Given the description of an element on the screen output the (x, y) to click on. 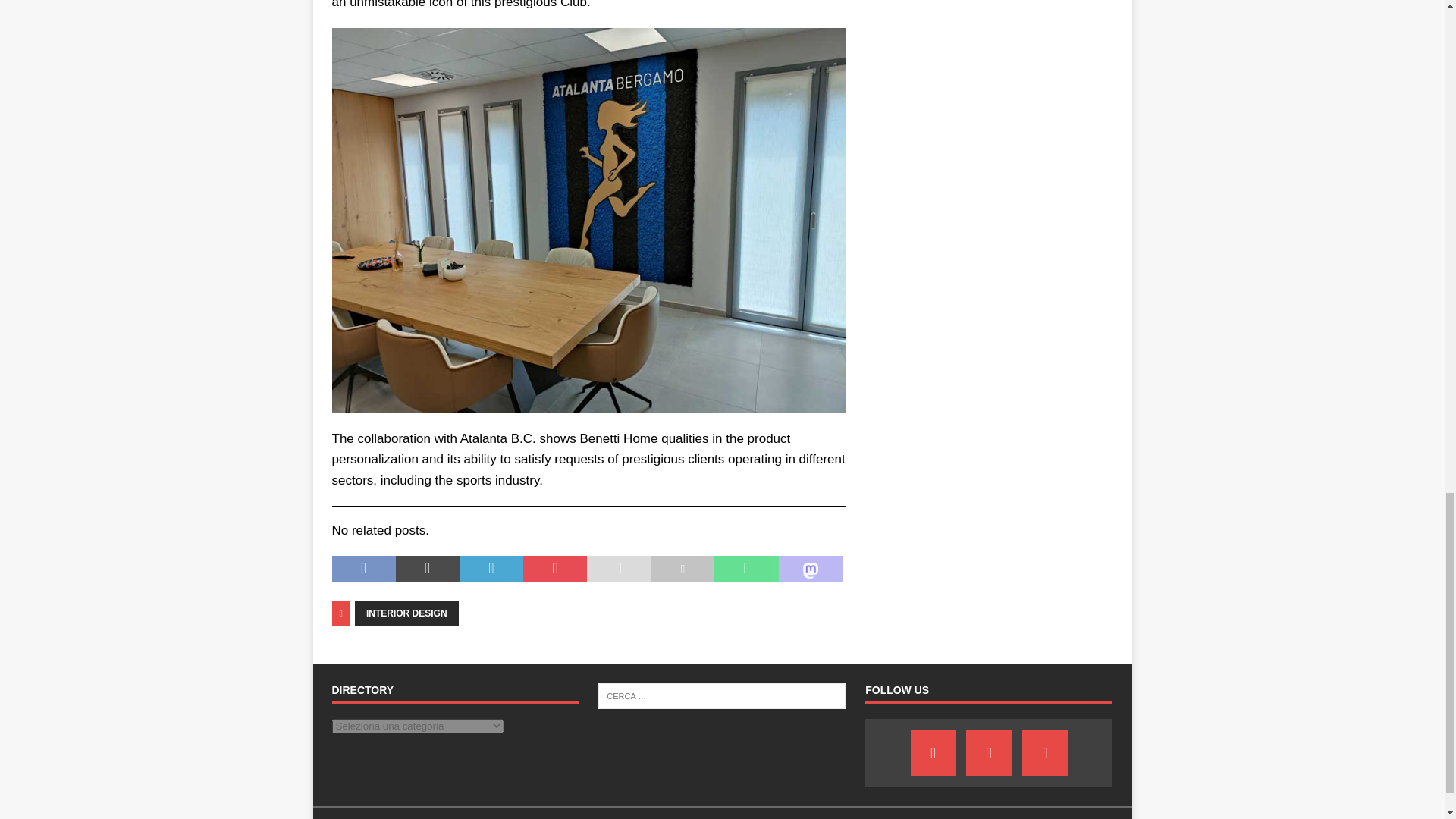
Share on LinkedIn (491, 569)
Pin This Post (554, 569)
Share on Whatsapp (745, 569)
Twitta Questo Articolo (428, 569)
Print this article (682, 569)
Manda ad un amico (618, 569)
Condividi su Facebook (363, 569)
